Given the description of an element on the screen output the (x, y) to click on. 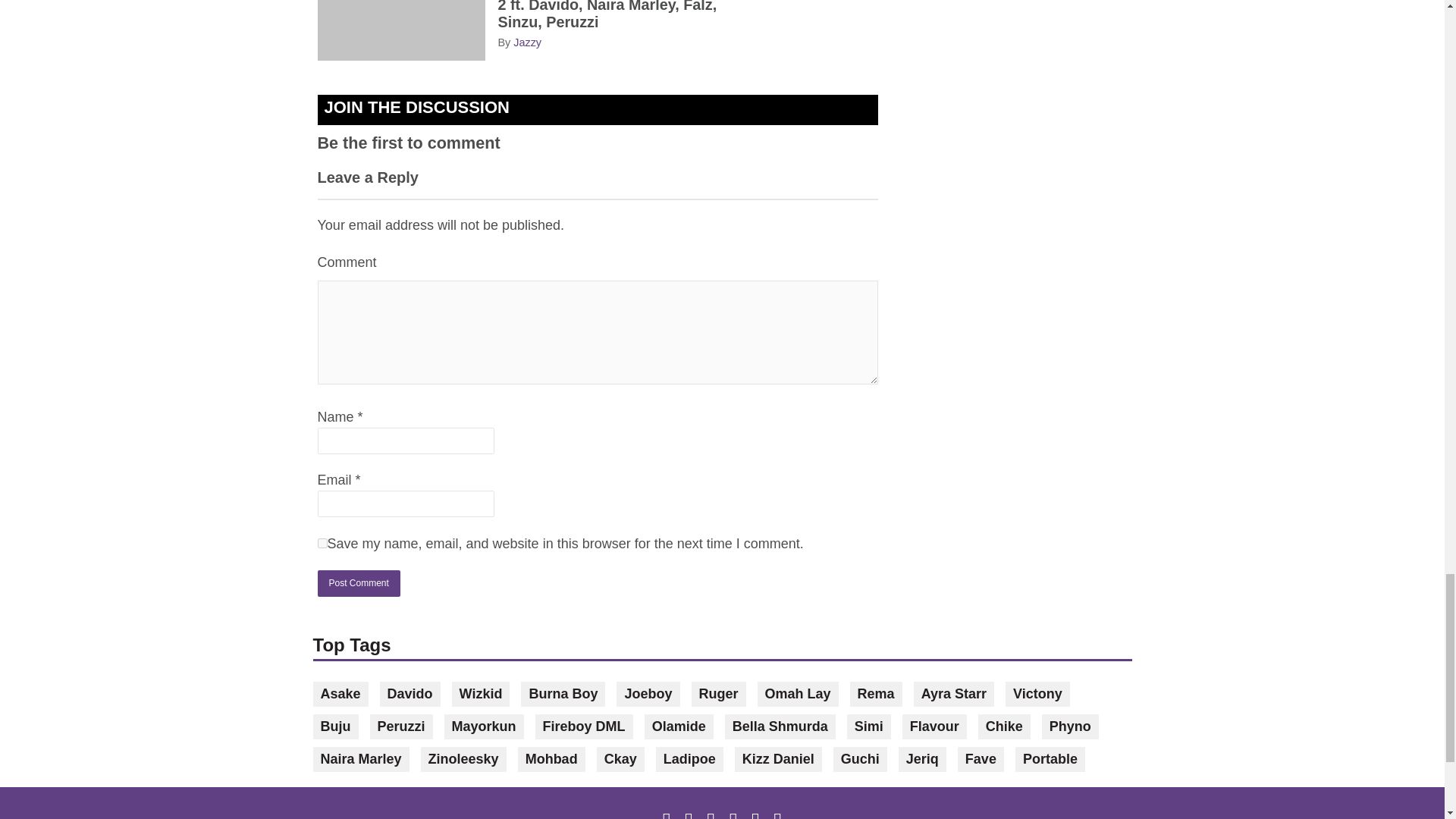
Posts by Jazzy (527, 42)
facebook (669, 813)
Post Comment (357, 583)
yes (321, 542)
